Given the description of an element on the screen output the (x, y) to click on. 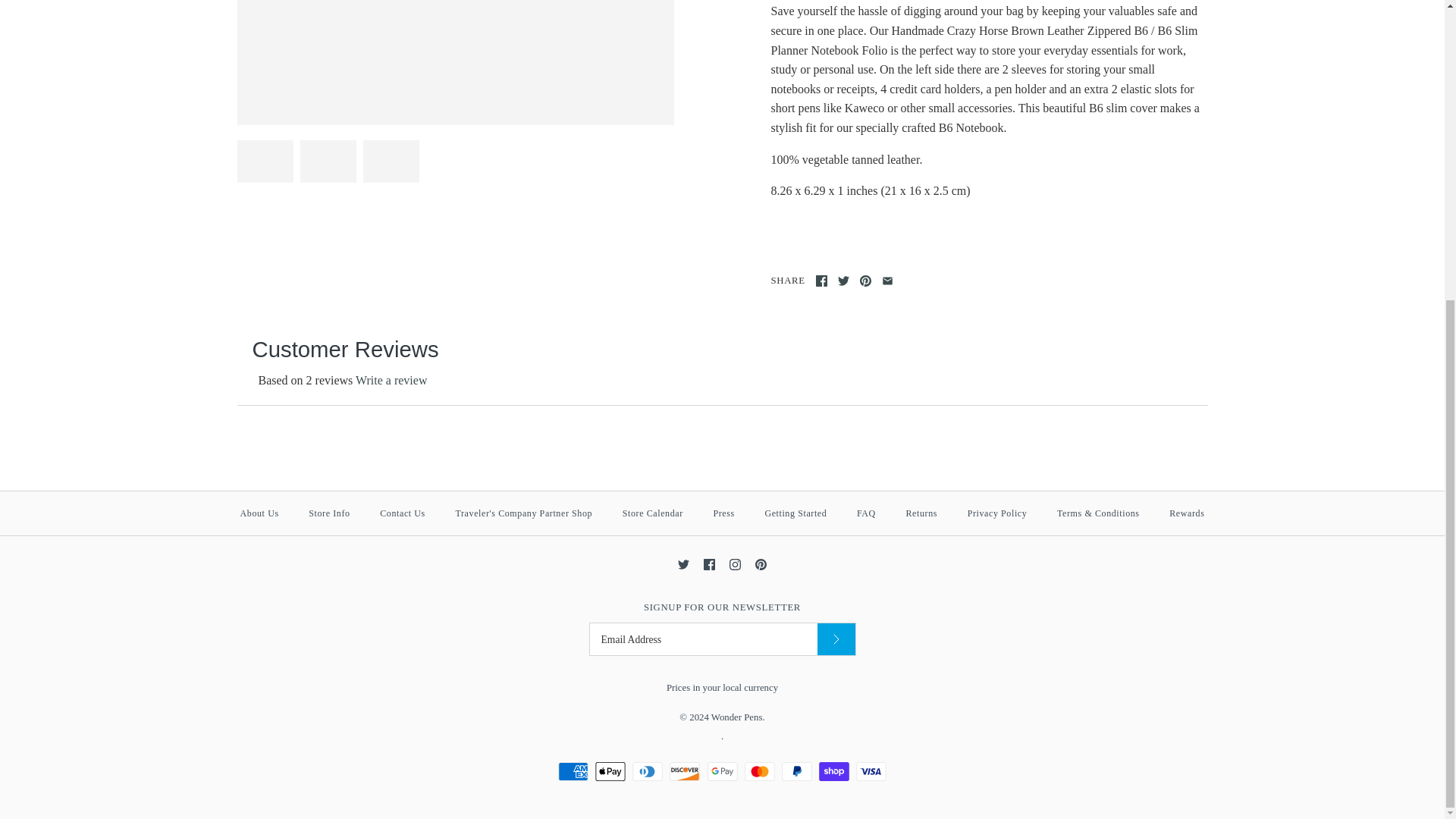
Instagram (735, 564)
Google Pay (721, 771)
Twitter (843, 280)
Share on Twitter (843, 280)
Apple Pay (610, 771)
Twitter (683, 564)
Pinterest (761, 564)
Facebook (708, 564)
American Express (572, 771)
Pin the main image (865, 280)
Diners Club (646, 771)
Email (887, 280)
Share using email (887, 280)
Facebook (821, 280)
Share on Facebook (821, 280)
